Given the description of an element on the screen output the (x, y) to click on. 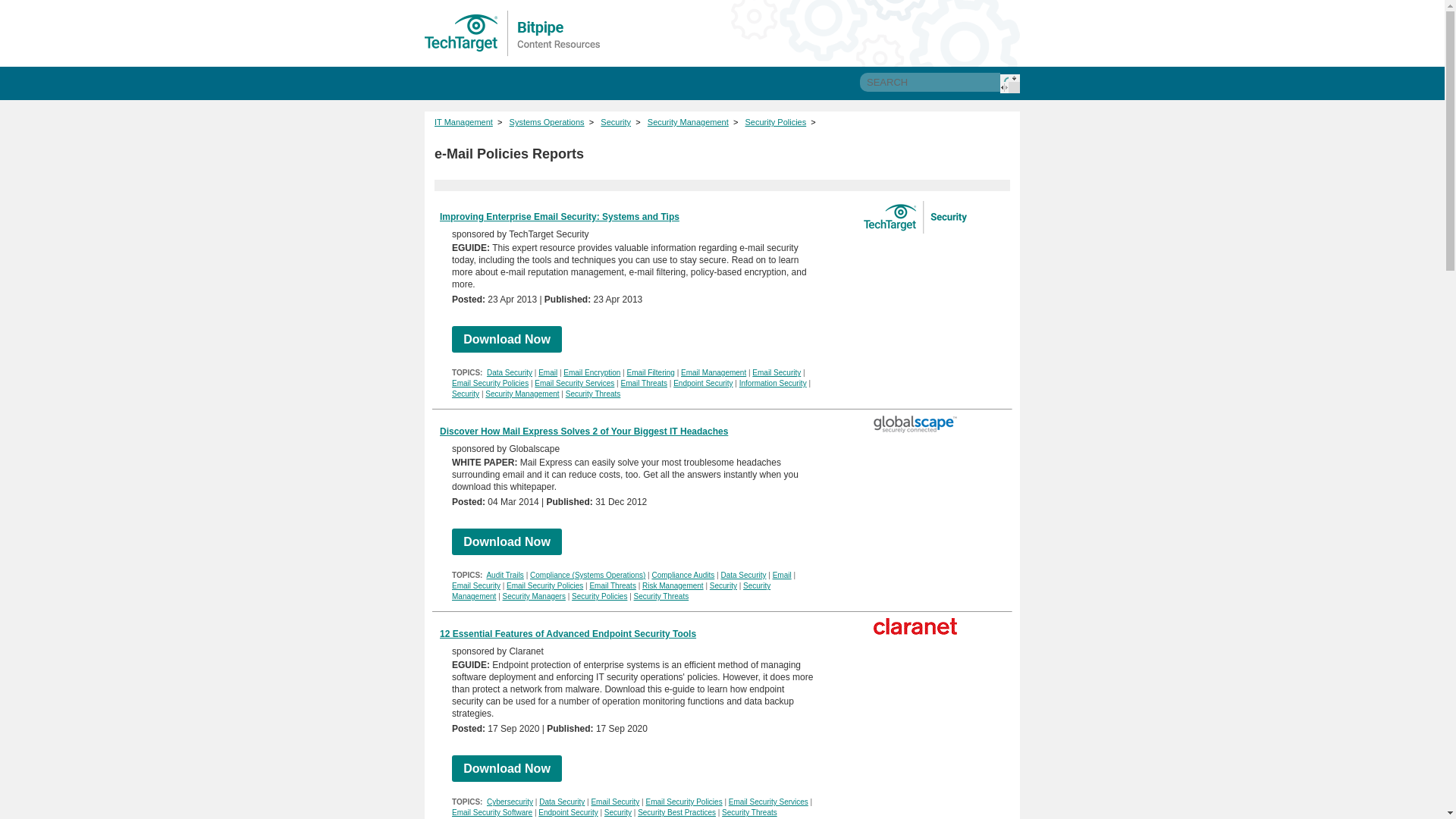
Email (547, 372)
Security Policies (775, 121)
Security Managers (534, 596)
Data Security (742, 574)
Security Management (610, 590)
Bitpipe.com (513, 33)
Compliance Audits (682, 574)
Email Security (776, 372)
Security Management (688, 121)
Security Policies (599, 596)
